Given the description of an element on the screen output the (x, y) to click on. 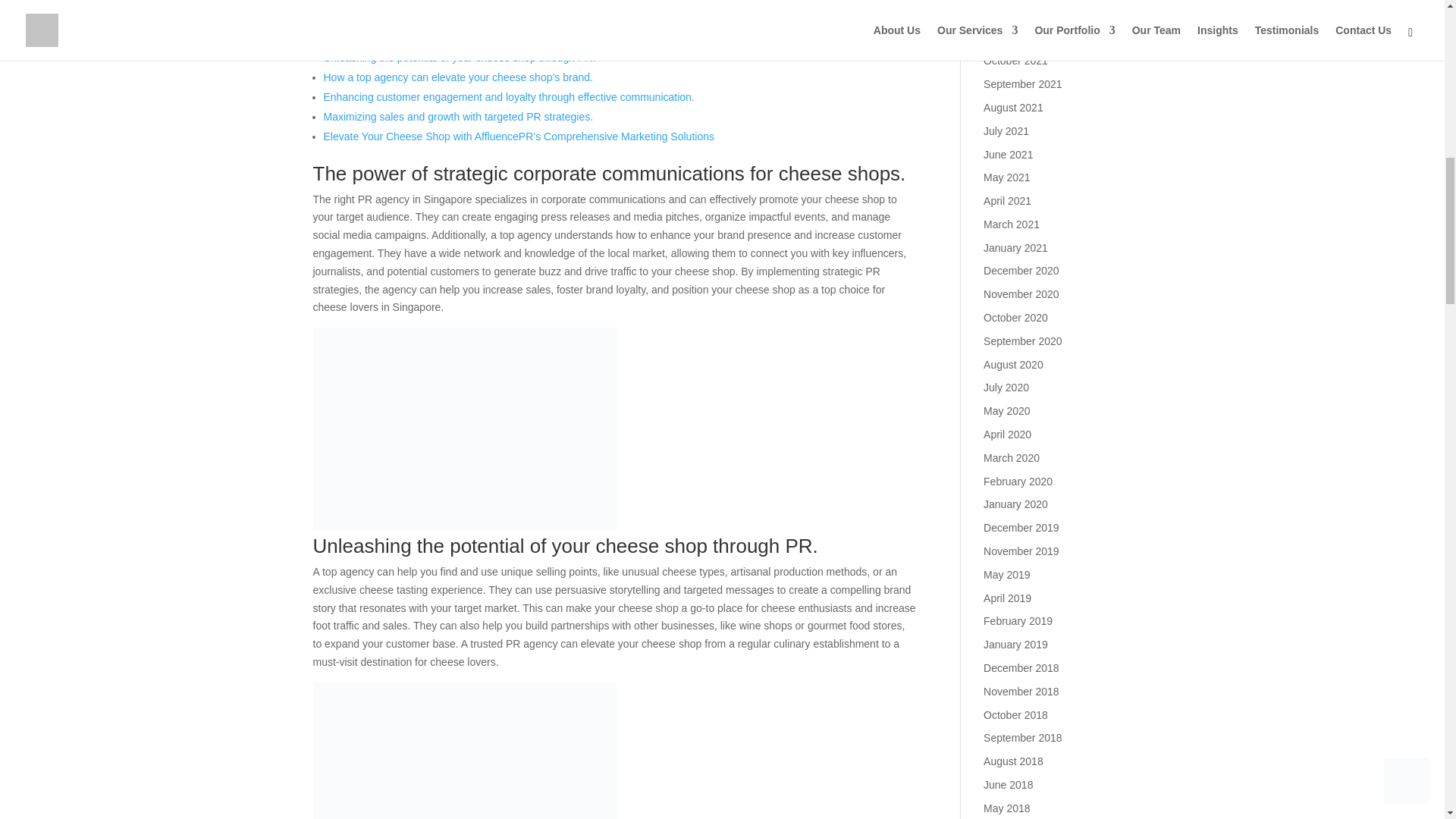
Maximizing sales and growth with targeted PR strategies. (457, 116)
Maximizing sales and growth with targeted PR strategies. (457, 116)
Unleashing the potential of your cheese shop through PR. (459, 57)
Elevate Your Cheese Shop with AffluencePR (518, 136)
Unleashing the potential of your cheese shop through PR. (459, 57)
How a top agency can elevate your cheese shop (457, 77)
